Given the description of an element on the screen output the (x, y) to click on. 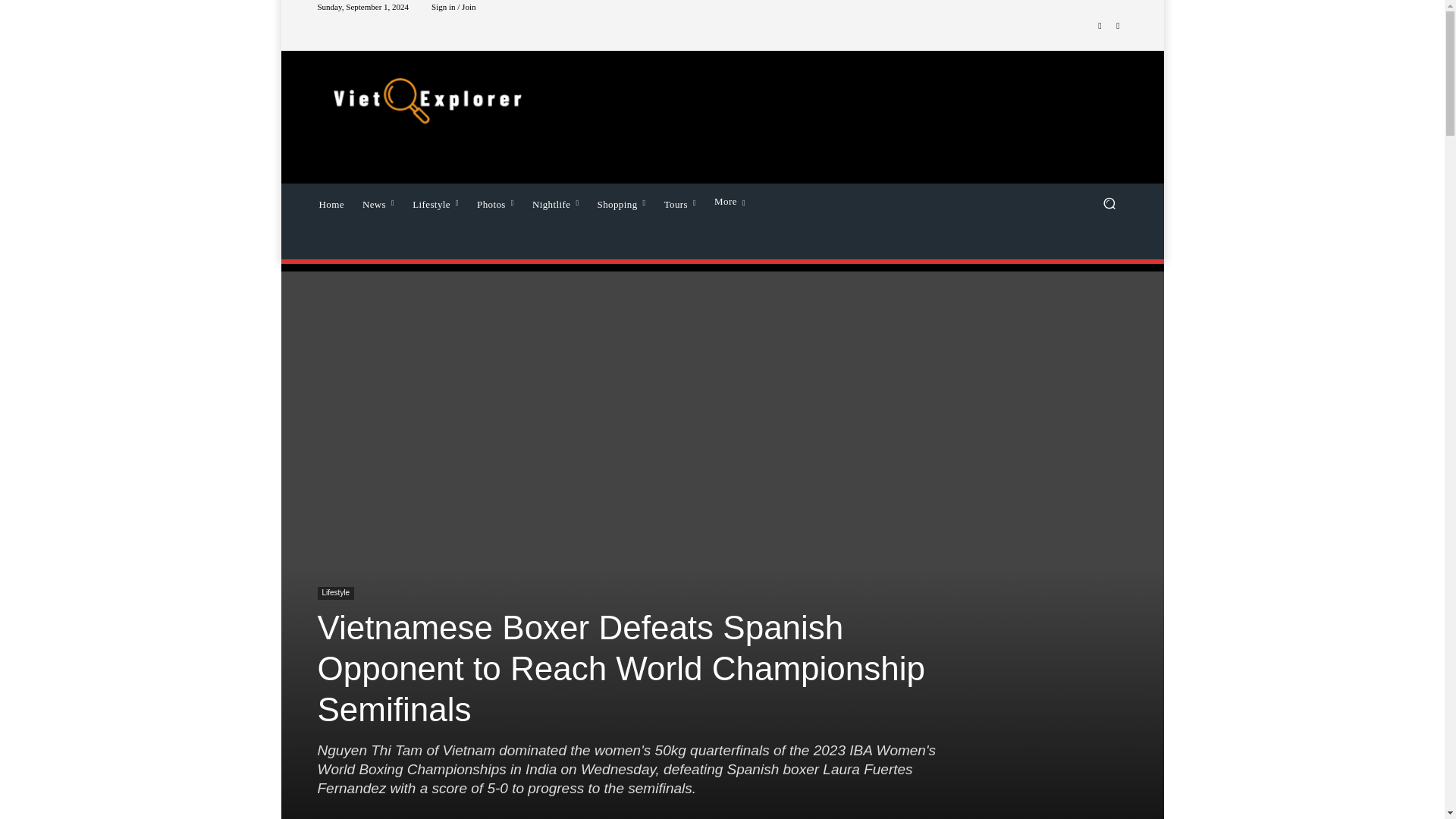
Home (330, 202)
Twitter (1117, 25)
News (378, 202)
Facebook (1099, 25)
Lifestyle (435, 202)
